Given the description of an element on the screen output the (x, y) to click on. 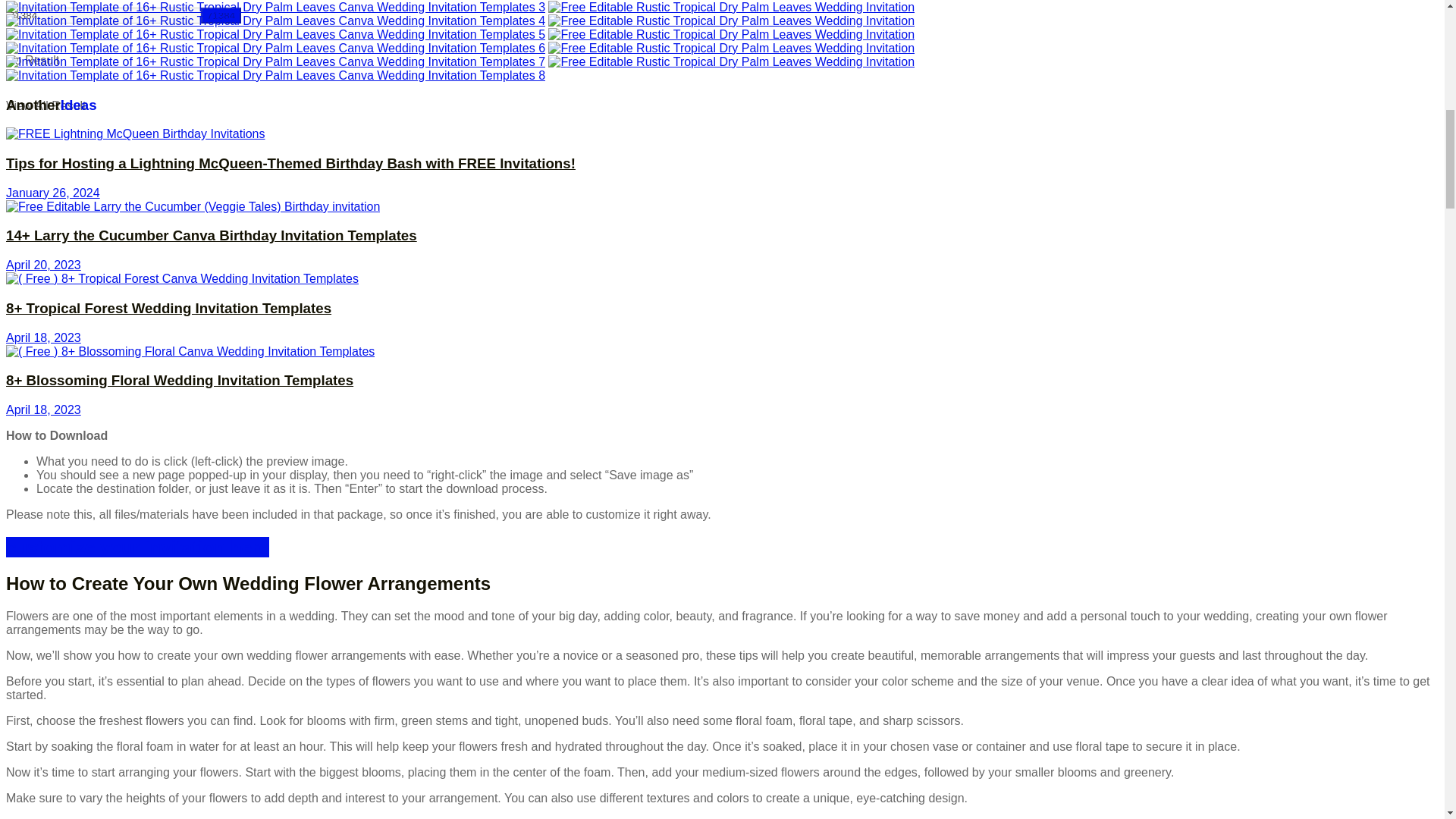
71384 (102, 15)
71384 (220, 15)
71384 (220, 15)
71384 (102, 15)
71384 (220, 15)
